Given the description of an element on the screen output the (x, y) to click on. 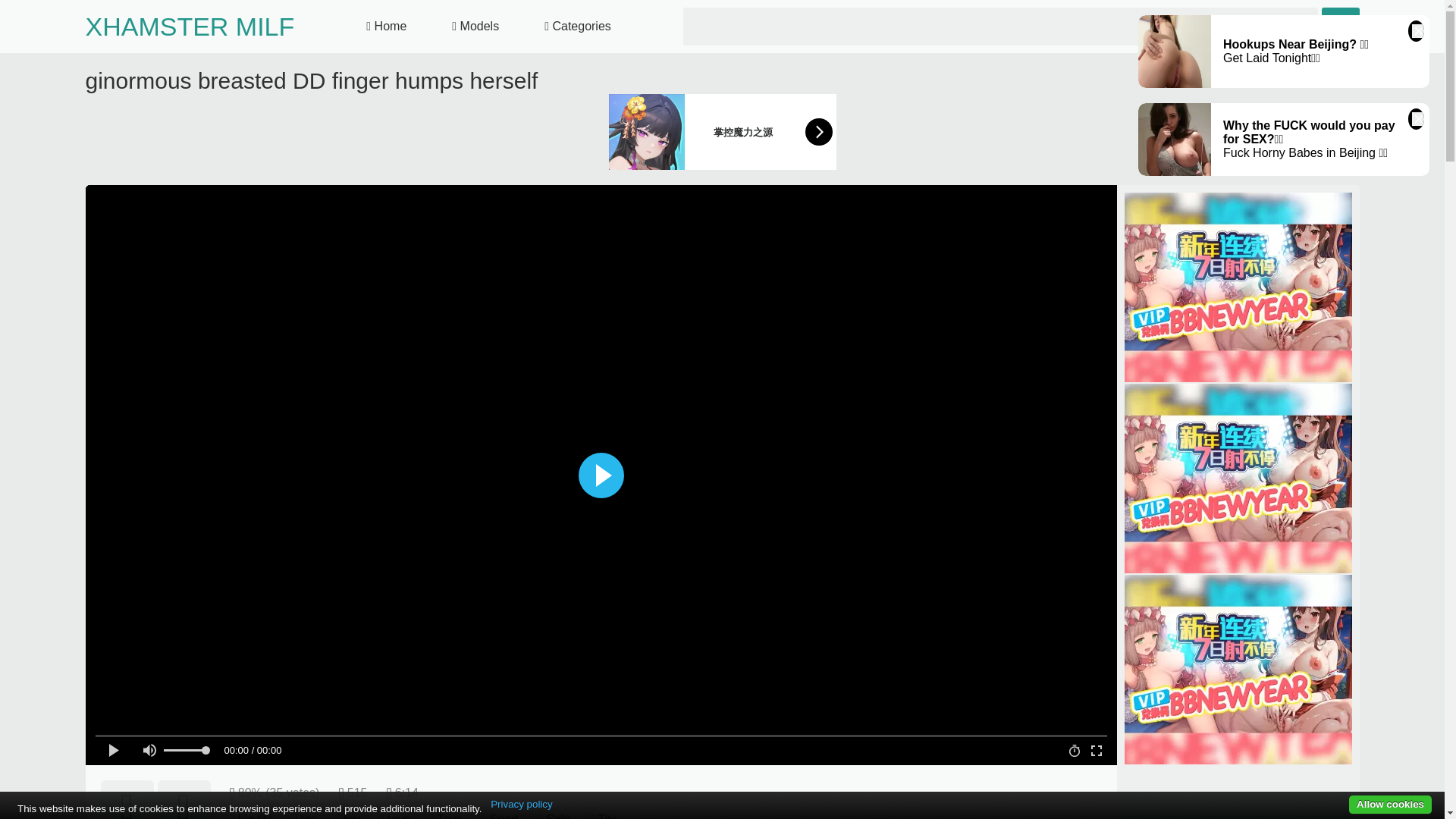
XHAMSTER MILF (189, 26)
Categories (577, 26)
toy (351, 816)
Tits (607, 816)
Like! (126, 799)
tits (307, 816)
big tits (255, 816)
Sport (503, 816)
Toys (448, 816)
Home (386, 26)
Models (476, 26)
Solo (558, 816)
Dislike! (184, 799)
Search (1339, 26)
toys (398, 816)
